Given the description of an element on the screen output the (x, y) to click on. 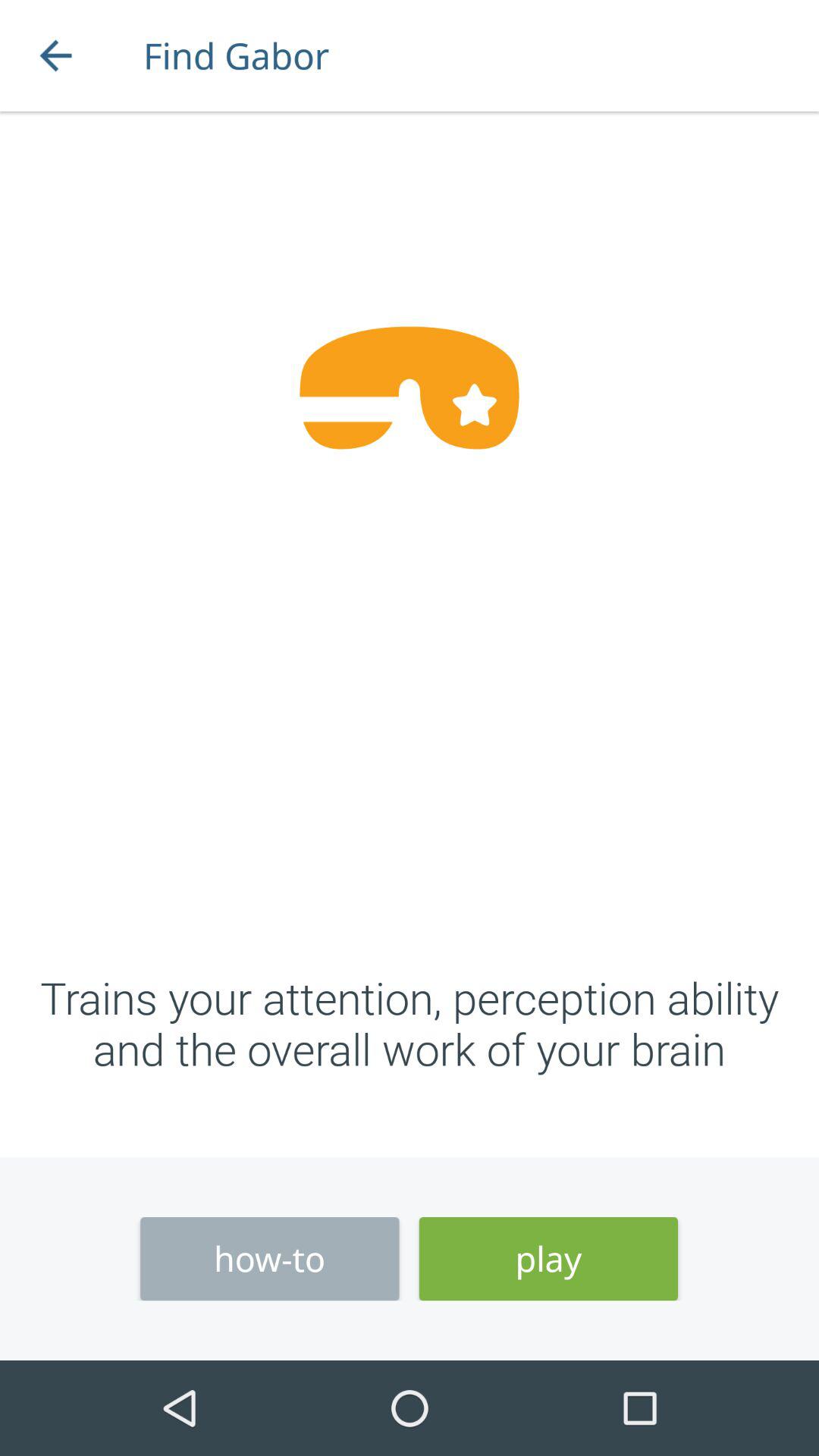
turn on item at the bottom right corner (548, 1258)
